Given the description of an element on the screen output the (x, y) to click on. 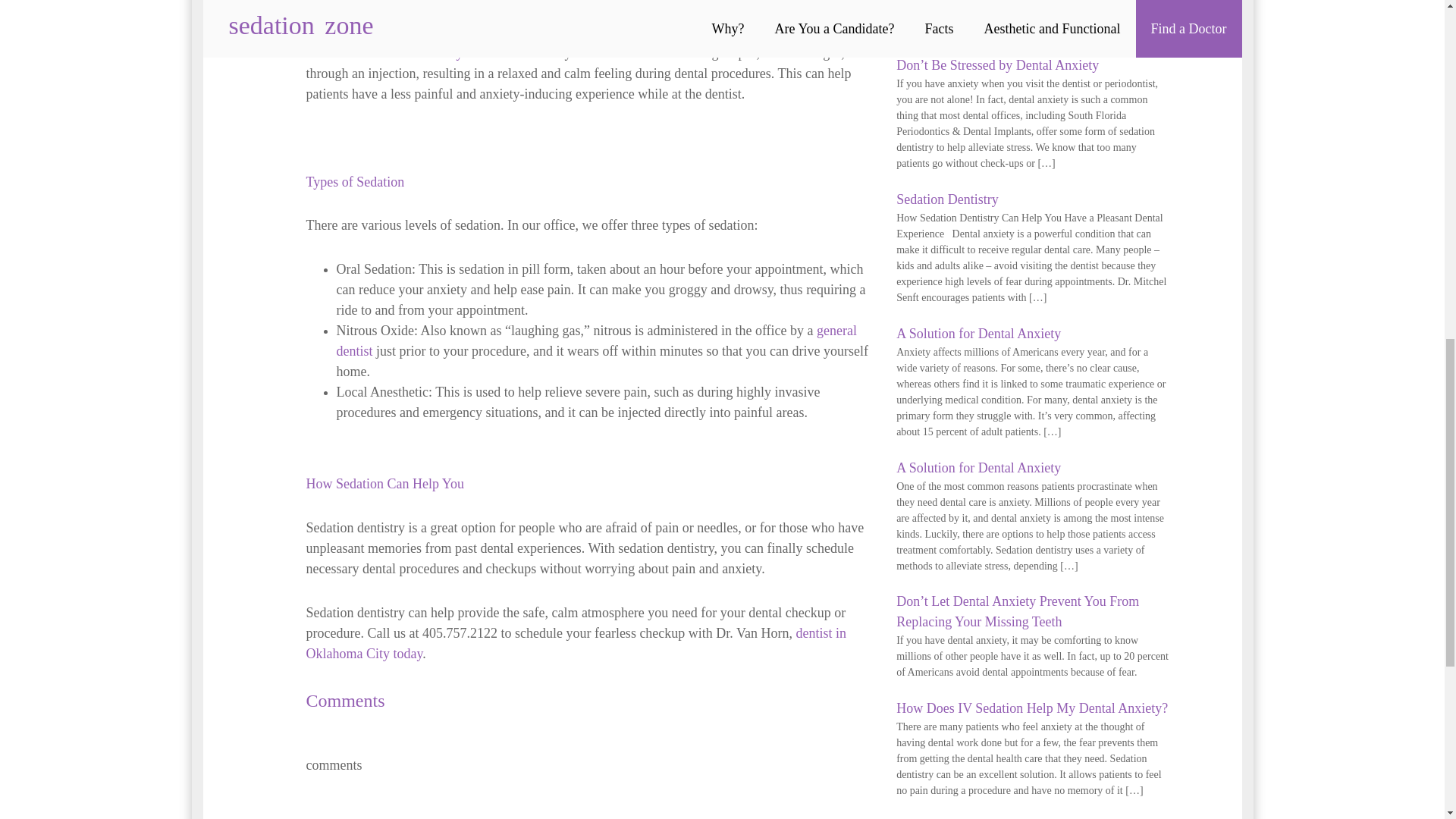
How Does IV Sedation Help My Dental Anxiety? (1031, 708)
Sedation Dentistry (946, 199)
A Solution for Dental Anxiety (978, 467)
A Solution for Dental Anxiety (978, 333)
dentist in Oklahoma City today (576, 642)
sedation dentistry (414, 52)
